Given the description of an element on the screen output the (x, y) to click on. 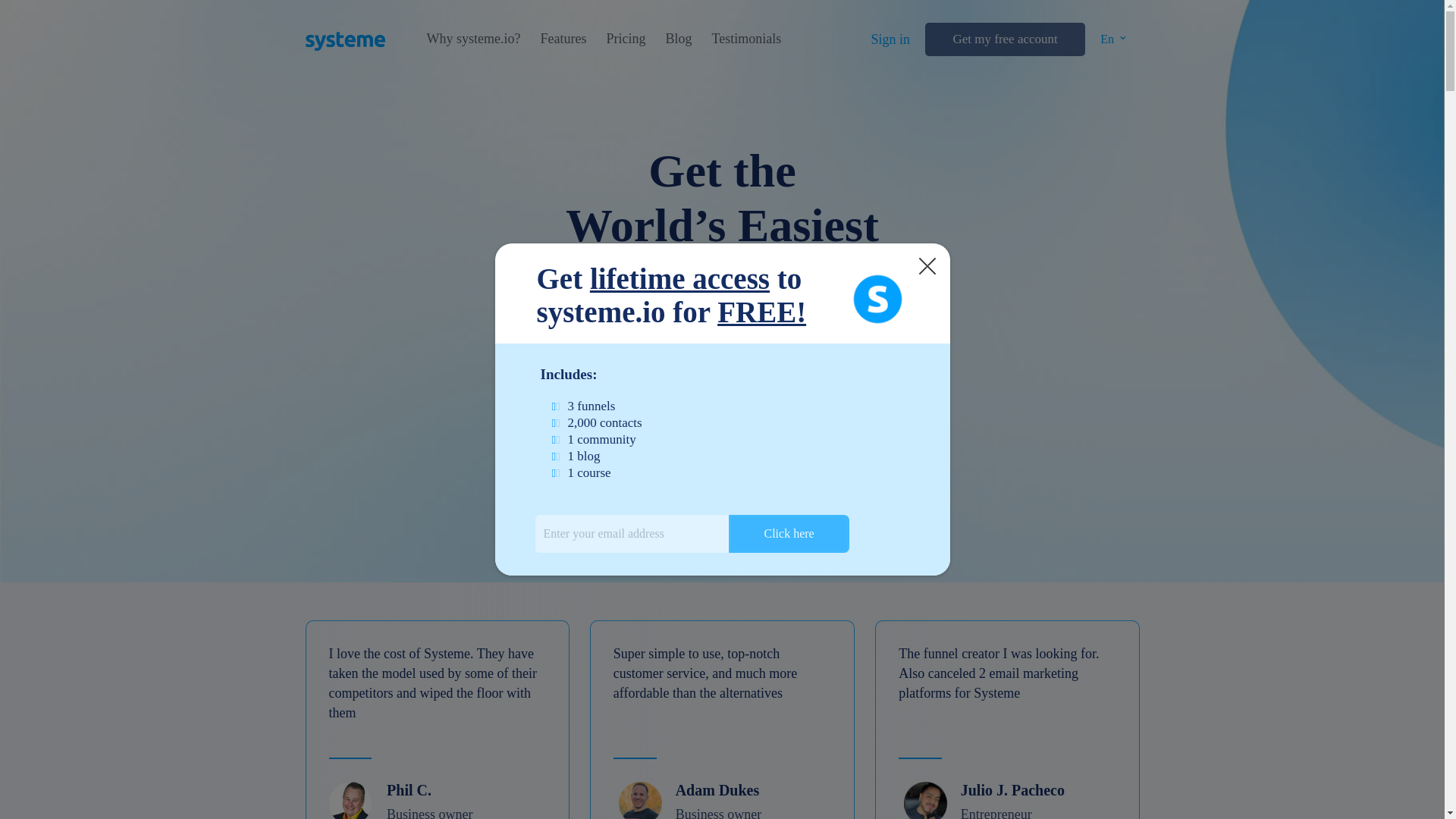
Get my free account (1004, 39)
Testimonials (745, 38)
Sign in (890, 39)
Why systeme.io? (472, 38)
Pricing (625, 38)
Blog (678, 38)
Features (563, 38)
